Given the description of an element on the screen output the (x, y) to click on. 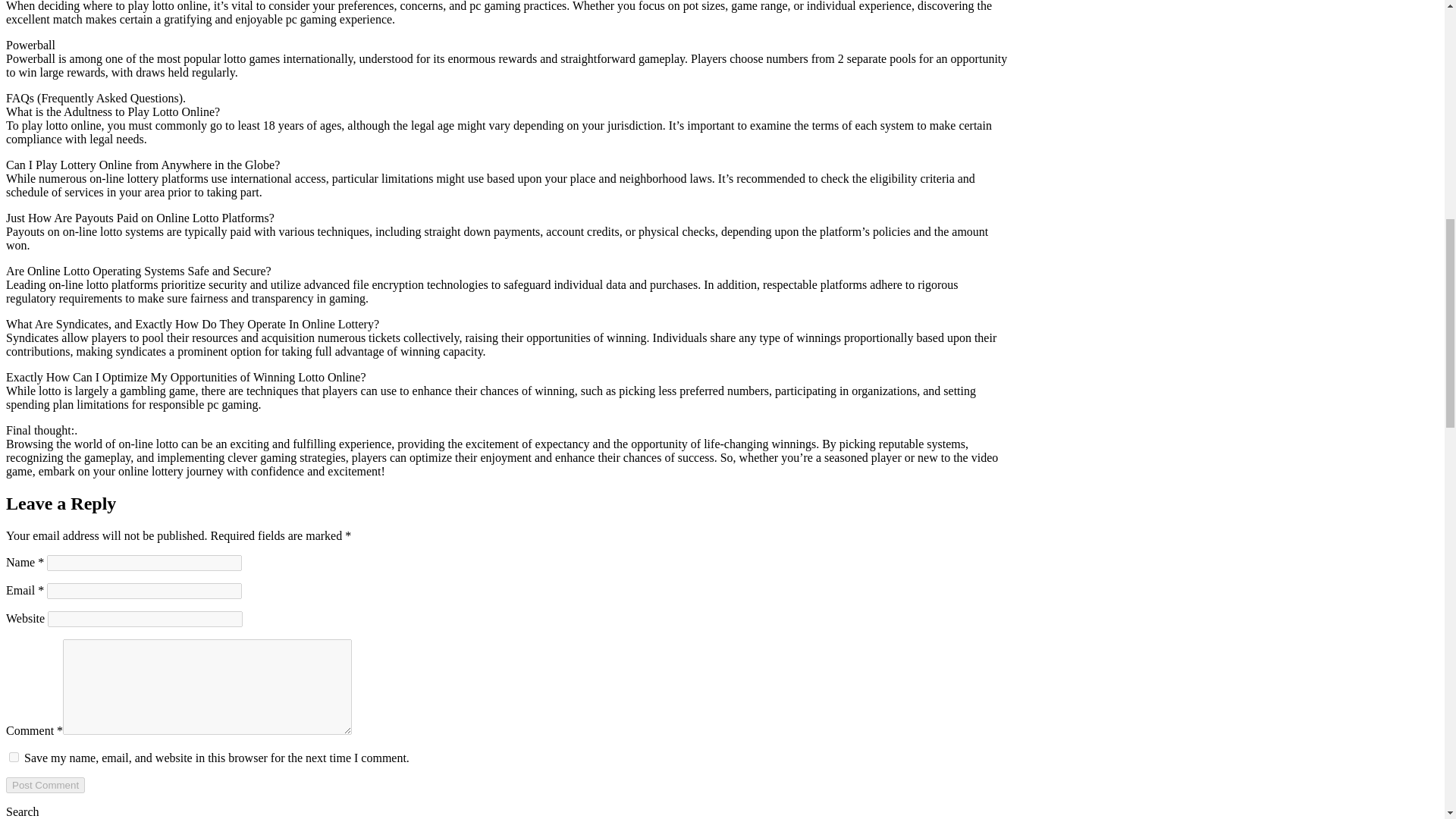
yes (13, 757)
Post Comment (44, 785)
Post Comment (44, 785)
